Given the description of an element on the screen output the (x, y) to click on. 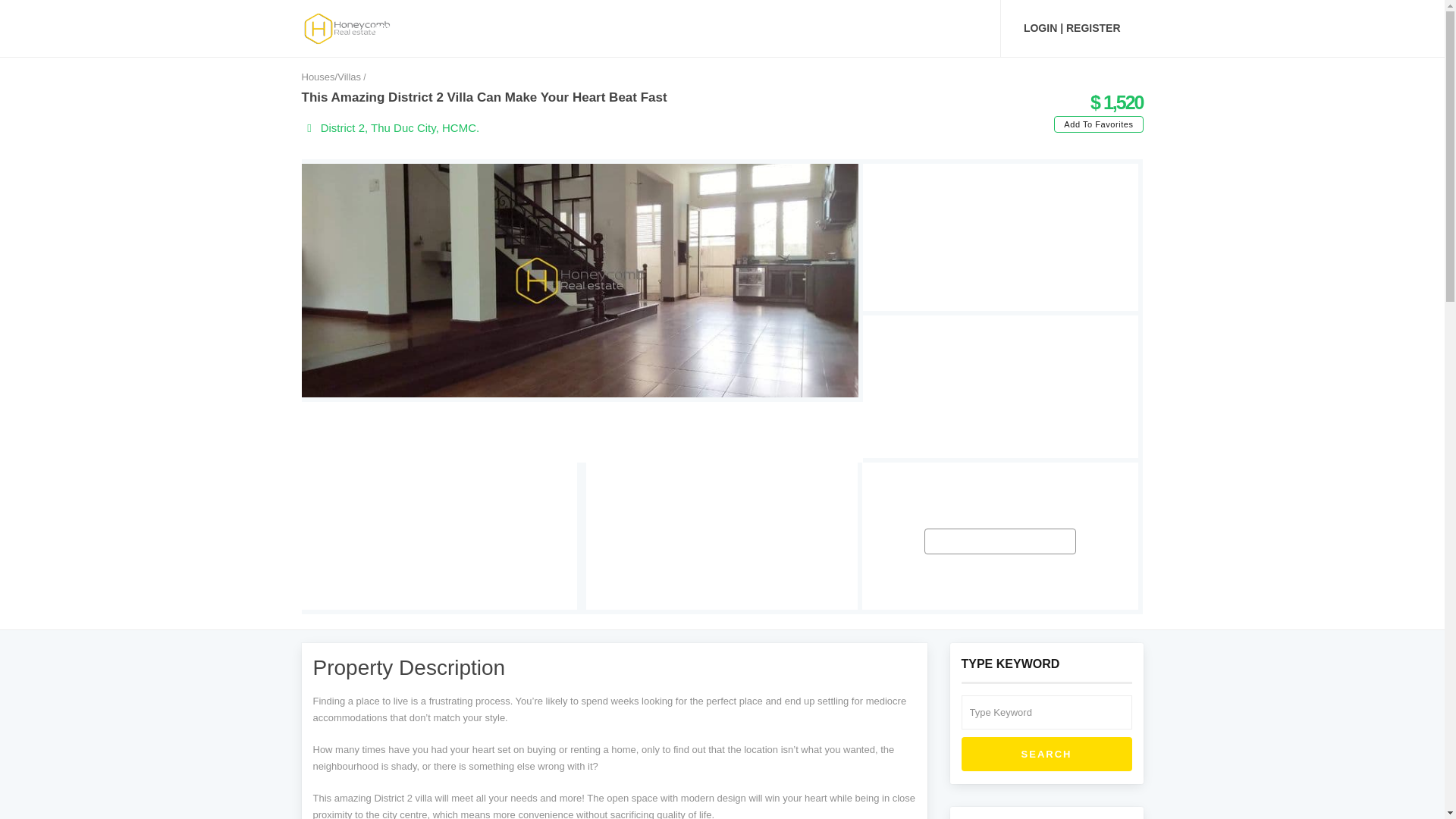
Discover a place you will love in HCMC (347, 27)
ABOUT US (759, 28)
HOME (386, 28)
CONTACT (946, 28)
APARTMENT (463, 28)
VILLA (540, 28)
SERVICED APARTMENT (643, 28)
TESTIMONIALS (853, 28)
SEARCH (1046, 754)
